Given the description of an element on the screen output the (x, y) to click on. 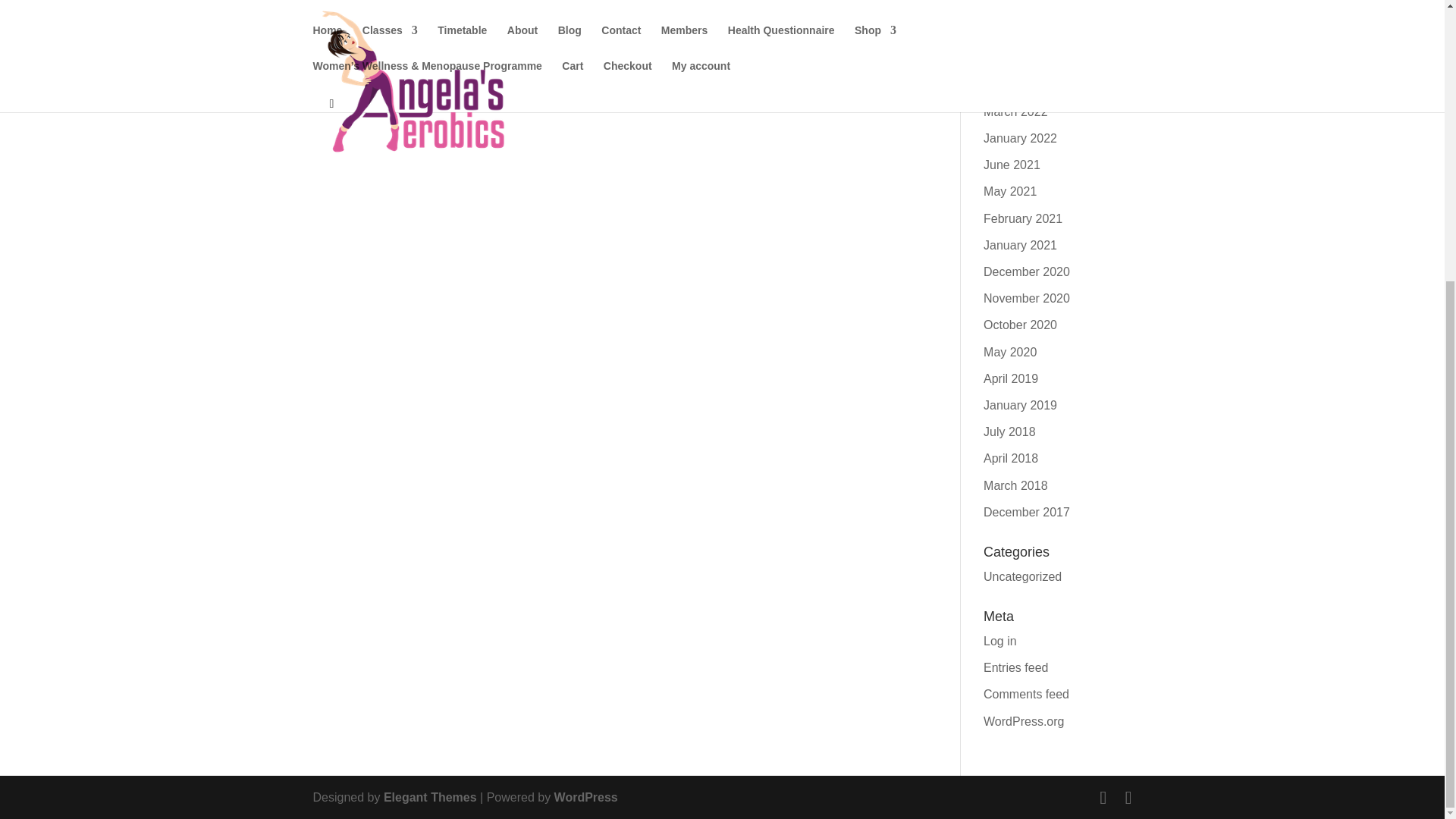
January 2023 (1020, 31)
Premium WordPress Themes (430, 797)
August 2023 (1017, 5)
